Given the description of an element on the screen output the (x, y) to click on. 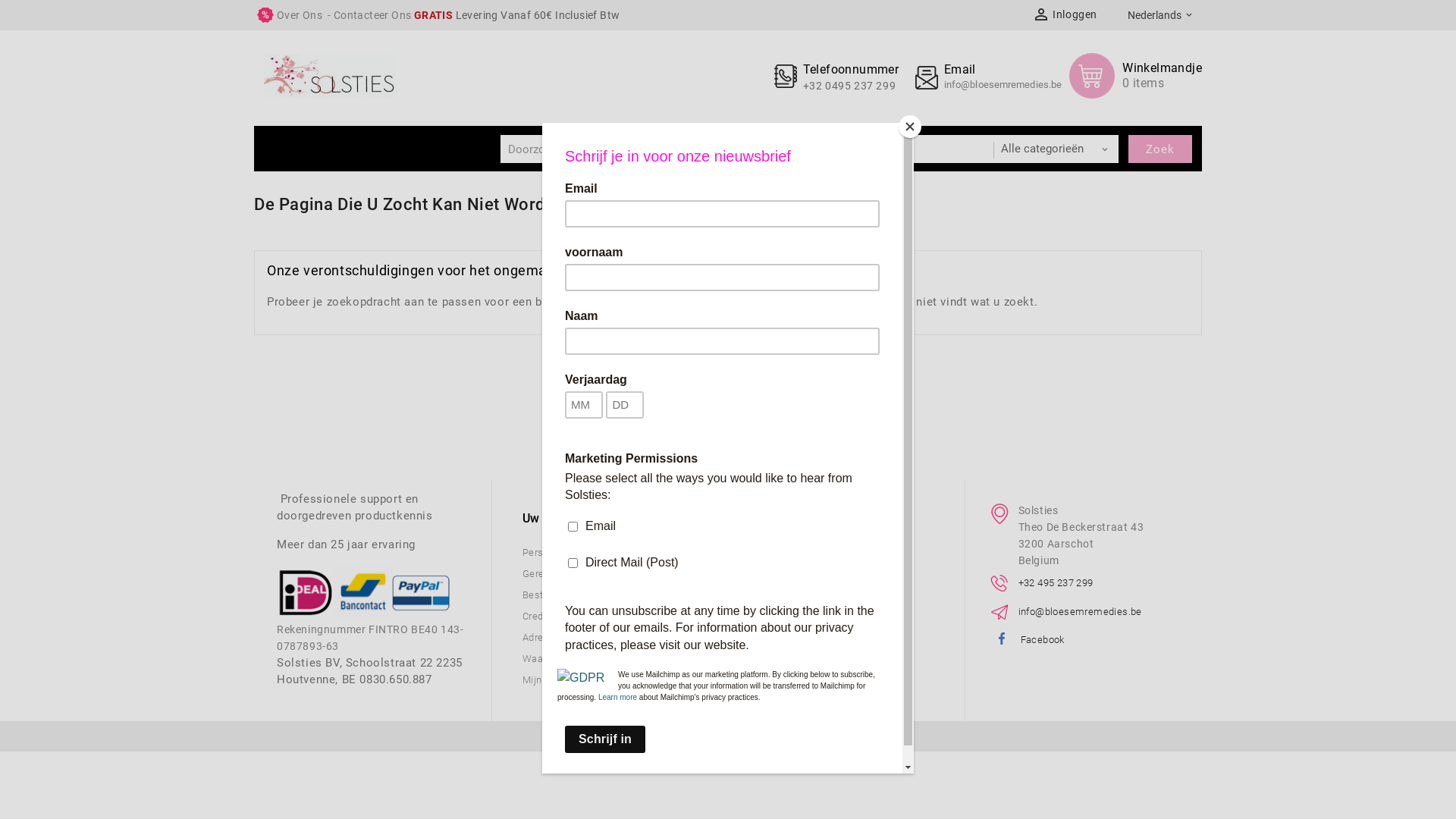
Over Ons Element type: text (299, 15)
+32 0495 237 299 Element type: text (849, 85)
- Contacteer Ons Element type: text (368, 15)
Uw Account Element type: text (585, 518)
Adressen Element type: text (543, 637)
PrestaShop Element type: text (727, 736)
Creditnota's Element type: text (549, 615)
info@bloesemremedies.be Element type: text (1079, 611)
info@bloesemremedies.be Element type: text (1002, 84)
Facebook Element type: text (1042, 639)
Winkelmandje
0 items Element type: text (1135, 75)
Mijn notificaties Element type: text (559, 679)
Geretourneerde producten Element type: text (582, 573)
Waardebonnen Element type: text (556, 658)
Bestellingen Element type: text (550, 594)
Persoonlijke Info Element type: text (560, 552)
Zoek Element type: text (1160, 148)
+32 495 237 299 Element type: text (1054, 582)
